Given the description of an element on the screen output the (x, y) to click on. 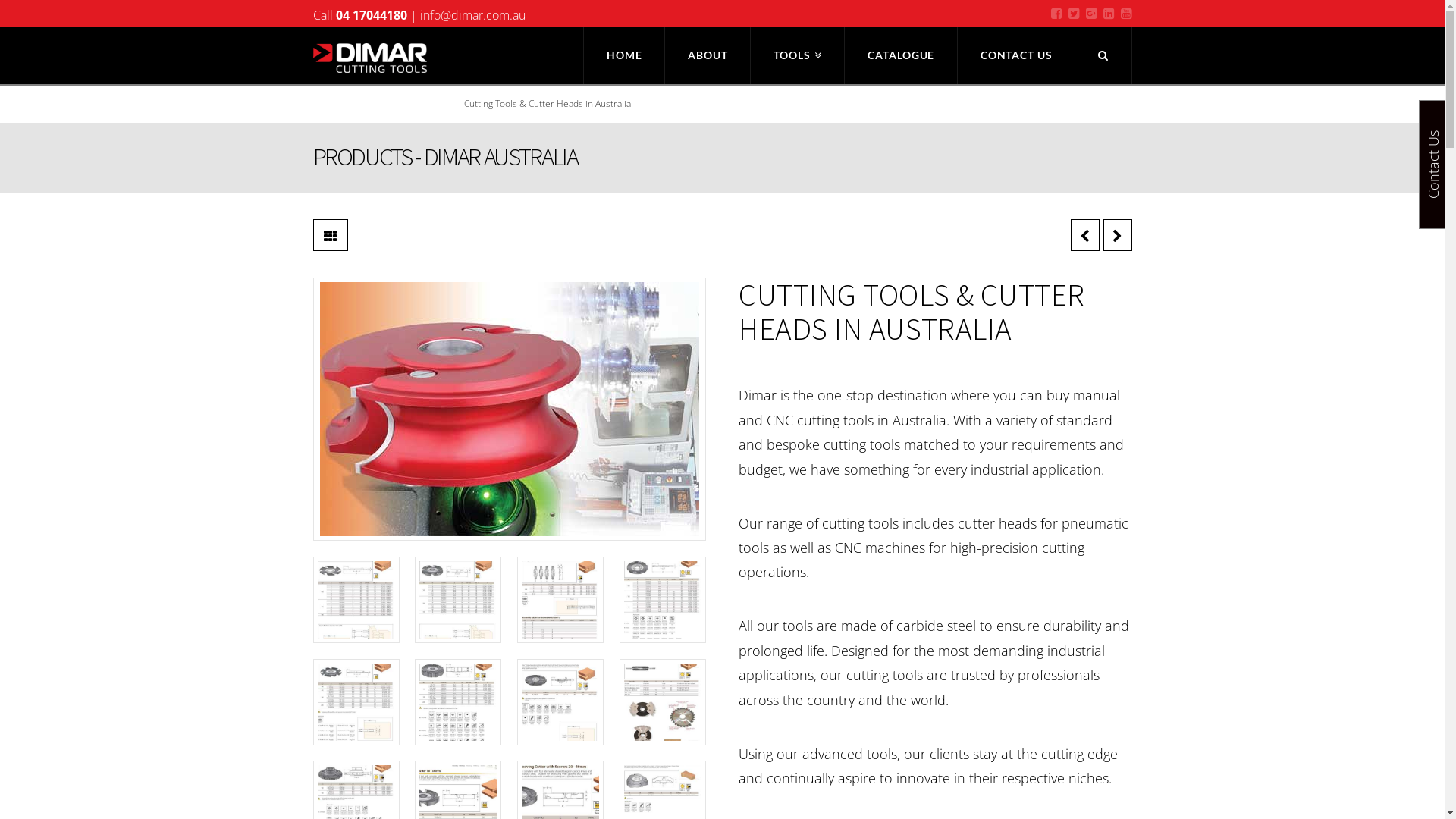
120 Element type: hover (560, 701)
Twitter Element type: hover (1073, 13)
cutting Element type: hover (509, 409)
CONTACT US Element type: text (1016, 55)
LinkedIn Element type: hover (1107, 13)
114 Element type: hover (355, 599)
116 Element type: hover (560, 599)
CATALOGUE Element type: text (900, 55)
ABOUT Element type: text (707, 55)
117 Element type: hover (662, 599)
HOME Element type: text (624, 55)
Facebook Element type: hover (1056, 13)
121 Element type: hover (662, 701)
118 Element type: hover (355, 701)
TOOLS Element type: text (797, 55)
119 Element type: hover (457, 701)
YouTube Element type: hover (1126, 13)
115 Element type: hover (457, 599)
Google+ Element type: hover (1091, 13)
04 17044180 Element type: text (370, 14)
cutting Element type: hover (508, 408)
Products - Dimar Australia Element type: text (392, 103)
